Given the description of an element on the screen output the (x, y) to click on. 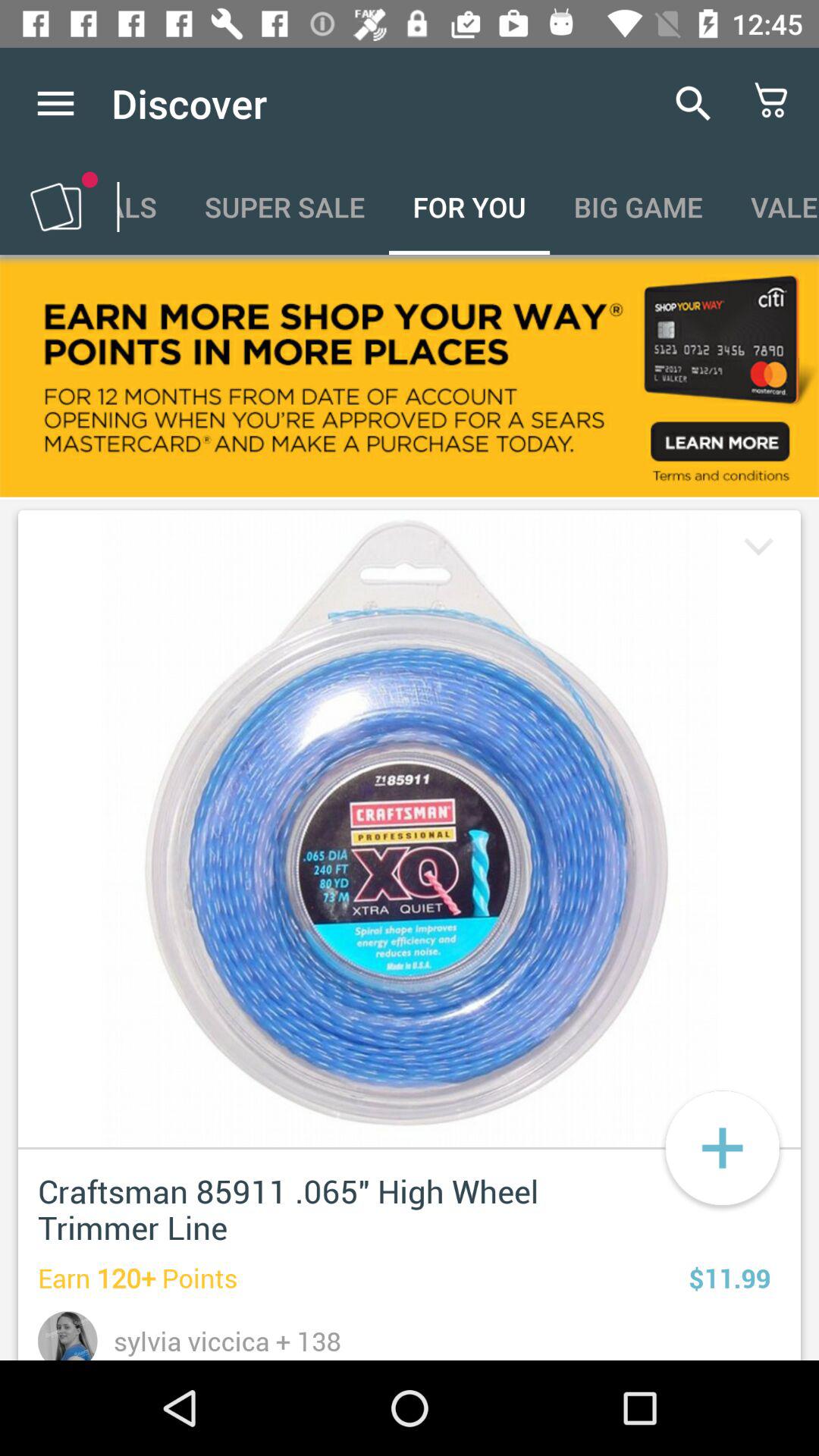
profile photo (67, 1335)
